Given the description of an element on the screen output the (x, y) to click on. 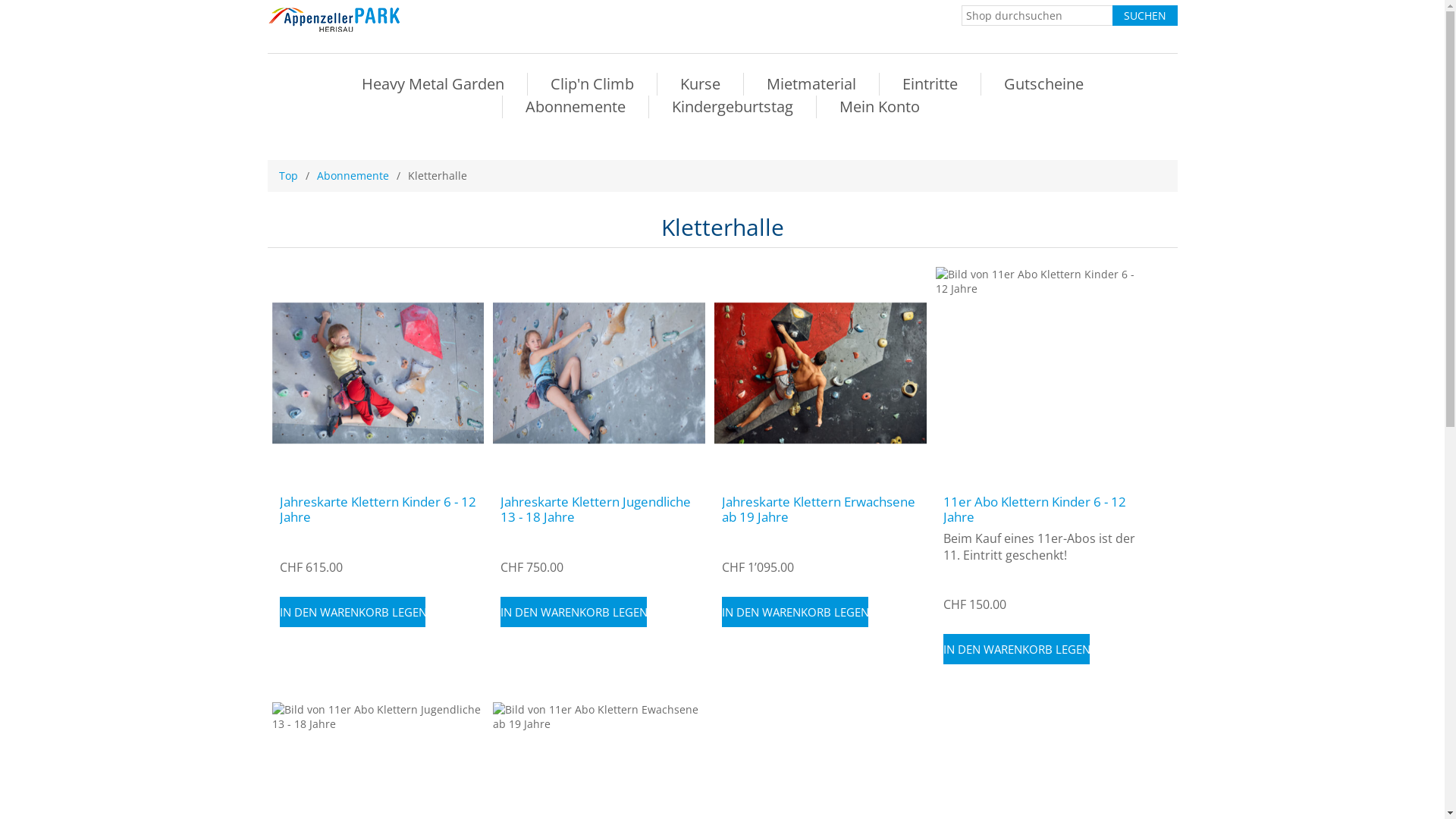
Jahreskarte Klettern Kinder 6 - 12 Jahre Element type: text (377, 509)
Jahreskarte Klettern Erwachsene ab 19 Jahre Element type: text (820, 509)
0 Bewertung(en) Element type: hover (315, 538)
Abonnemente Element type: text (352, 175)
Mietmaterial Element type: text (810, 83)
In den Warenkorb Legen Element type: text (573, 611)
In den Warenkorb Legen Element type: text (351, 611)
Abonnemente Element type: text (575, 106)
0 Bewertung(en) Element type: hover (979, 576)
Gutscheine Element type: text (1043, 83)
Kindergeburtstag Element type: text (732, 106)
0 Bewertung(en) Element type: hover (536, 538)
Kurse Element type: text (699, 83)
Heavy Metal Garden Element type: text (432, 83)
Top Element type: text (288, 175)
Clip'n Climb Element type: text (591, 83)
0 Bewertung(en) Element type: hover (757, 538)
Eintritte Element type: text (929, 83)
Appenzeller Park Element type: hover (340, 18)
Suchen Element type: text (1143, 15)
In den Warenkorb Legen Element type: text (794, 611)
In den Warenkorb Legen Element type: text (1015, 648)
Mein Konto Element type: text (879, 106)
Jahreskarte Klettern Jugendliche 13 - 18 Jahre Element type: text (598, 509)
11er Abo Klettern Kinder 6 - 12 Jahre Element type: text (1041, 509)
